Given the description of an element on the screen output the (x, y) to click on. 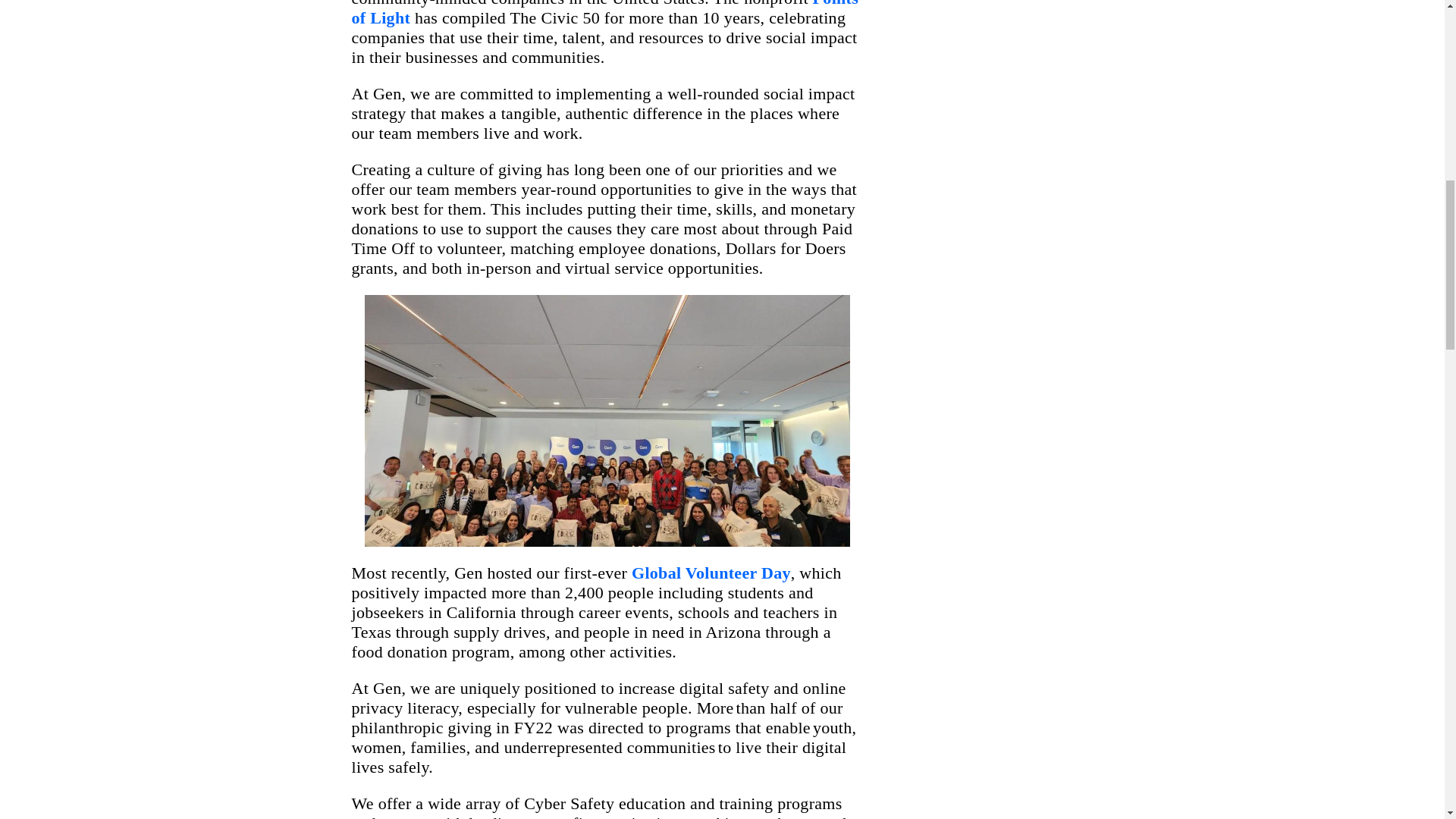
Points of Light (605, 13)
Global Volunteer Day (710, 572)
